Given the description of an element on the screen output the (x, y) to click on. 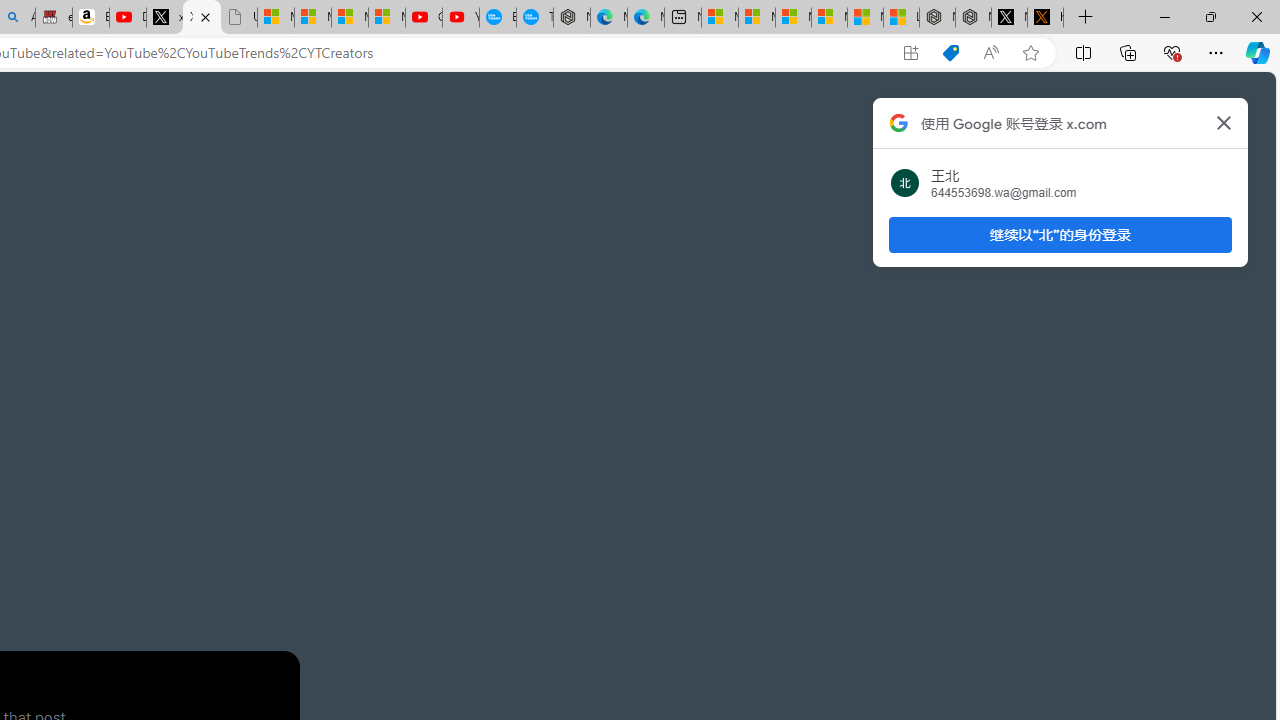
App available. Install X (910, 53)
